Given the description of an element on the screen output the (x, y) to click on. 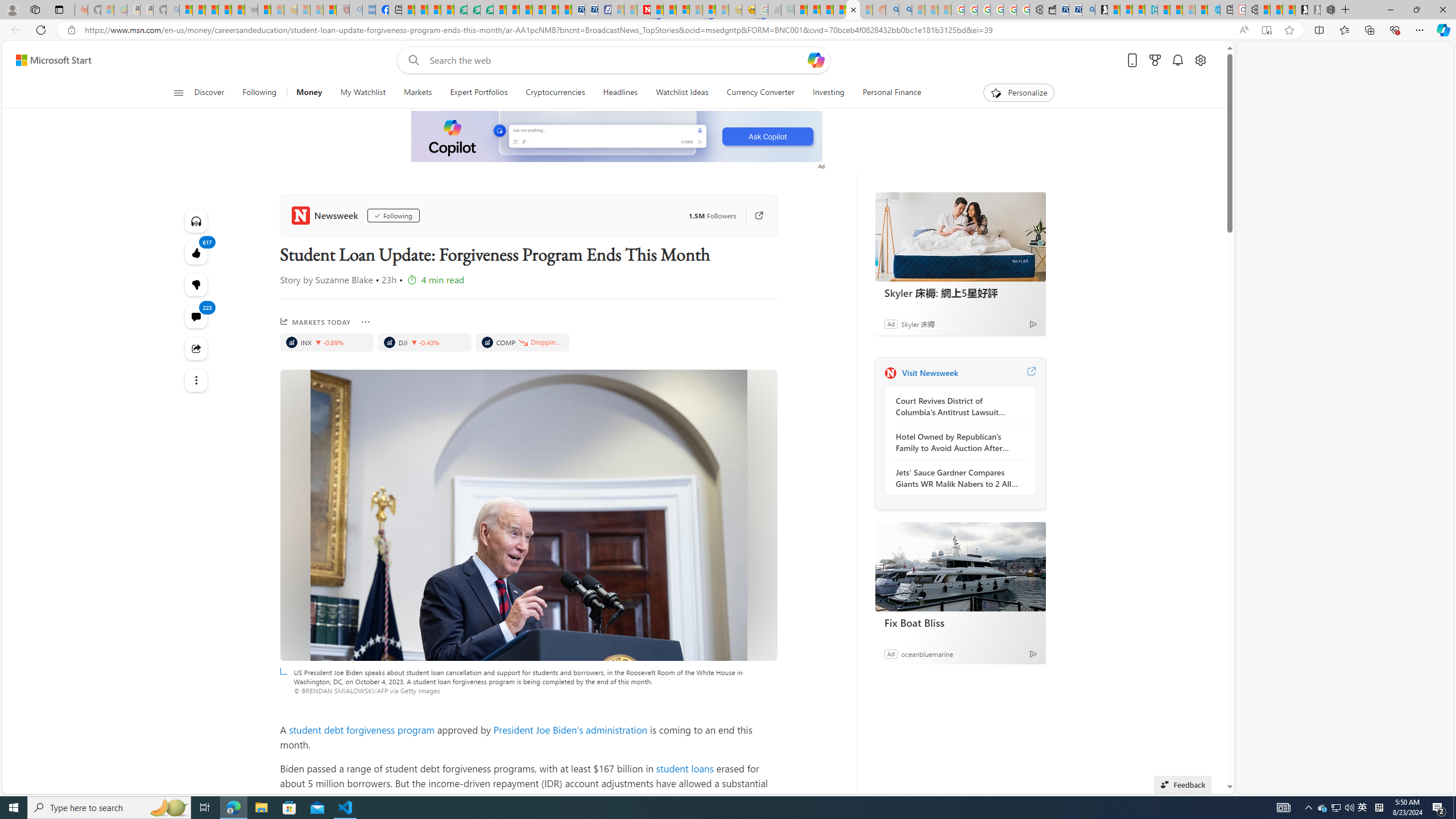
Play Free Online Games | Games from Microsoft Start (1301, 9)
Ad Choice (1032, 653)
Web search (411, 60)
Student Loan Update: Forgiveness Program Ends This Month (852, 9)
Enter your search term (617, 59)
DITOGAMES AG Imprint - Sleeping (787, 9)
Price decrease (413, 342)
INX, S&P 500. Price is 5,570.64. Decreased by -0.89% (326, 342)
Microsoft account | Privacy - Sleeping (616, 9)
Go to publisher's site (758, 215)
